Given the description of an element on the screen output the (x, y) to click on. 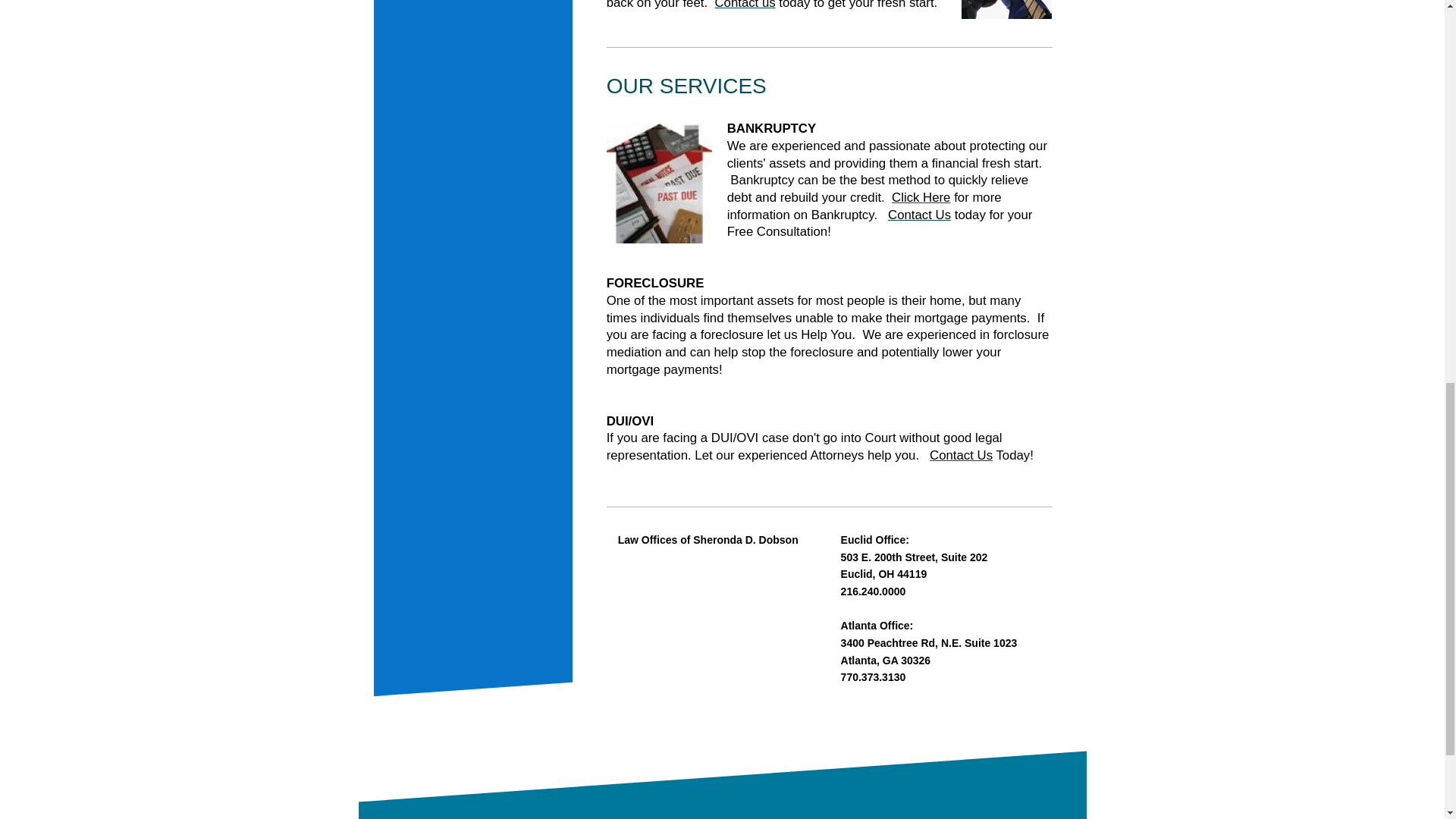
Contact us (744, 4)
Contact Us (919, 214)
Click Here (920, 197)
Contact Us (961, 454)
